Given the description of an element on the screen output the (x, y) to click on. 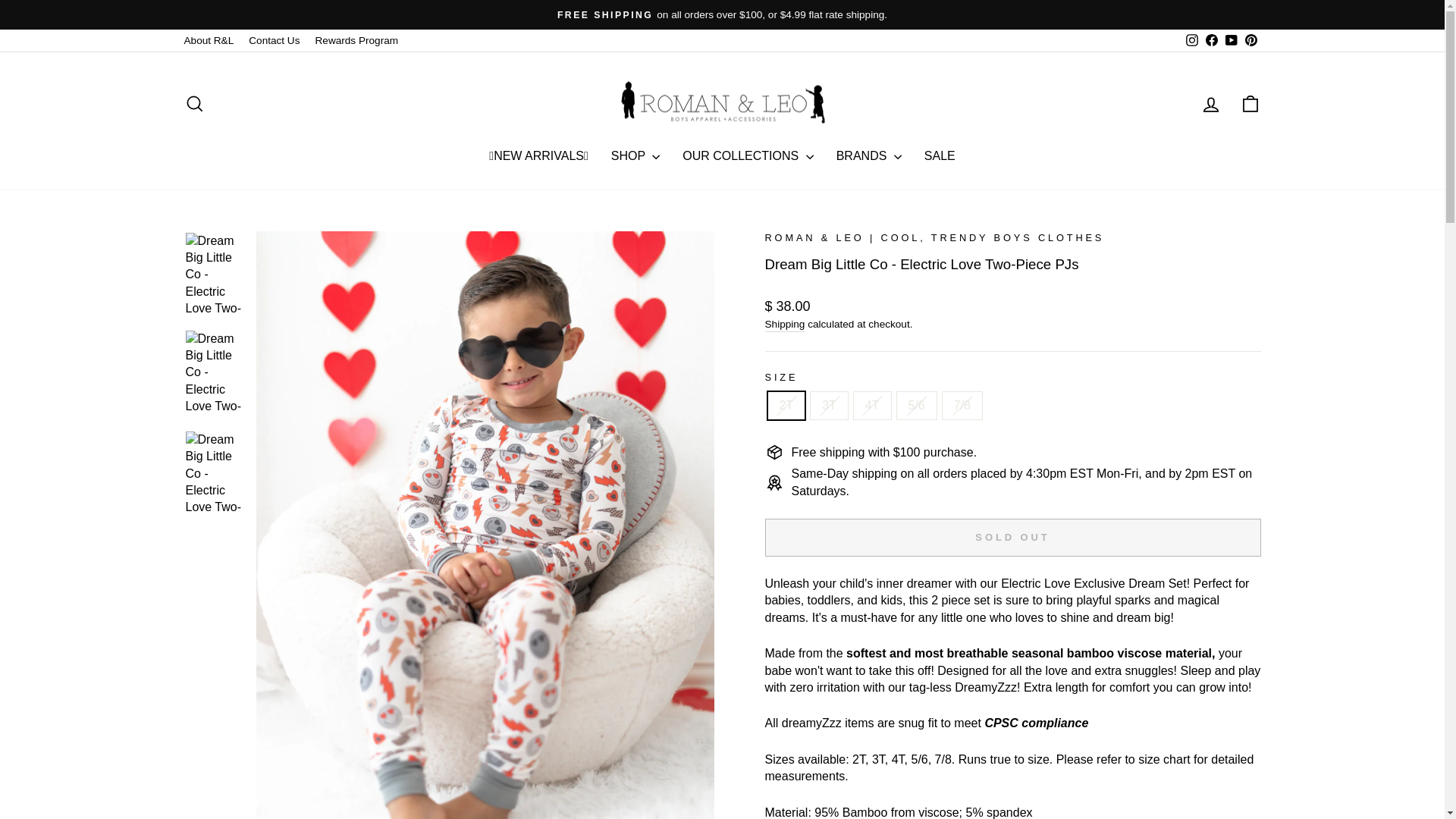
icon-search (194, 103)
icon-bag-minimal (1249, 103)
instagram (1192, 39)
account (1210, 104)
